Given the description of an element on the screen output the (x, y) to click on. 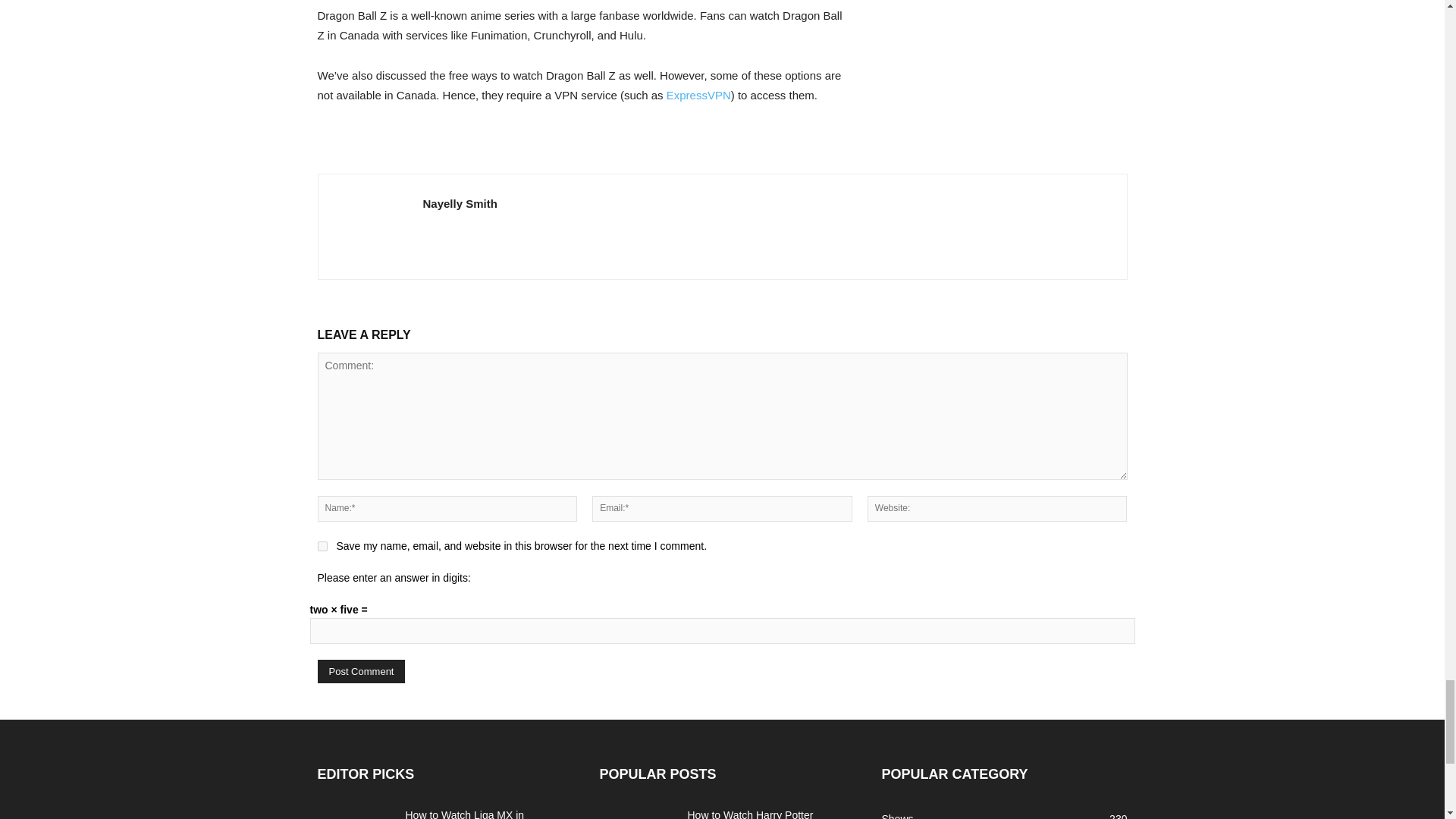
Post Comment (360, 671)
yes (321, 546)
